Given the description of an element on the screen output the (x, y) to click on. 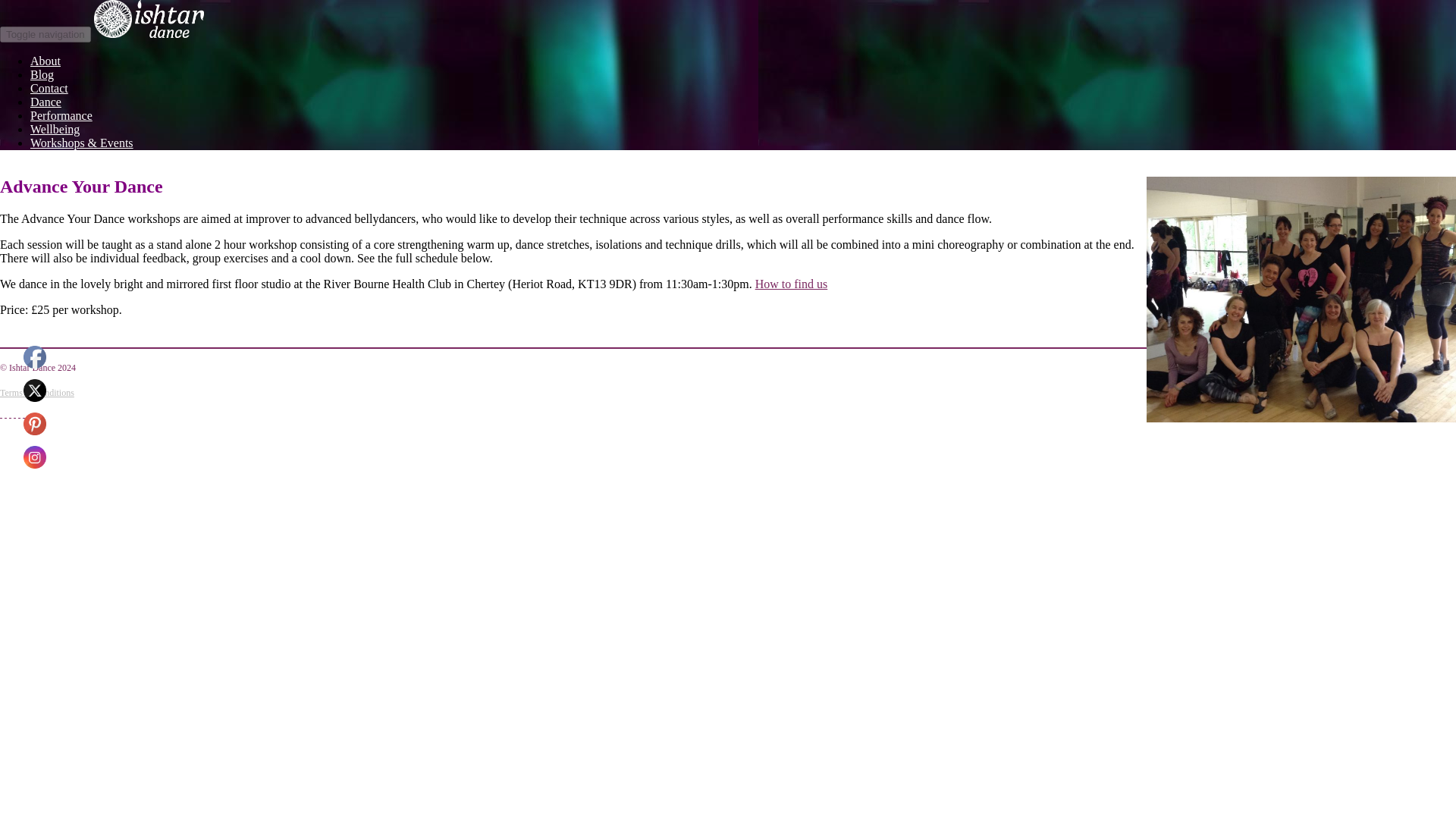
Pinterest (34, 423)
How to find us (791, 283)
Facebook (34, 356)
Performance (61, 115)
Toggle navigation (45, 34)
Twitter (34, 390)
Instagram (34, 456)
